Given the description of an element on the screen output the (x, y) to click on. 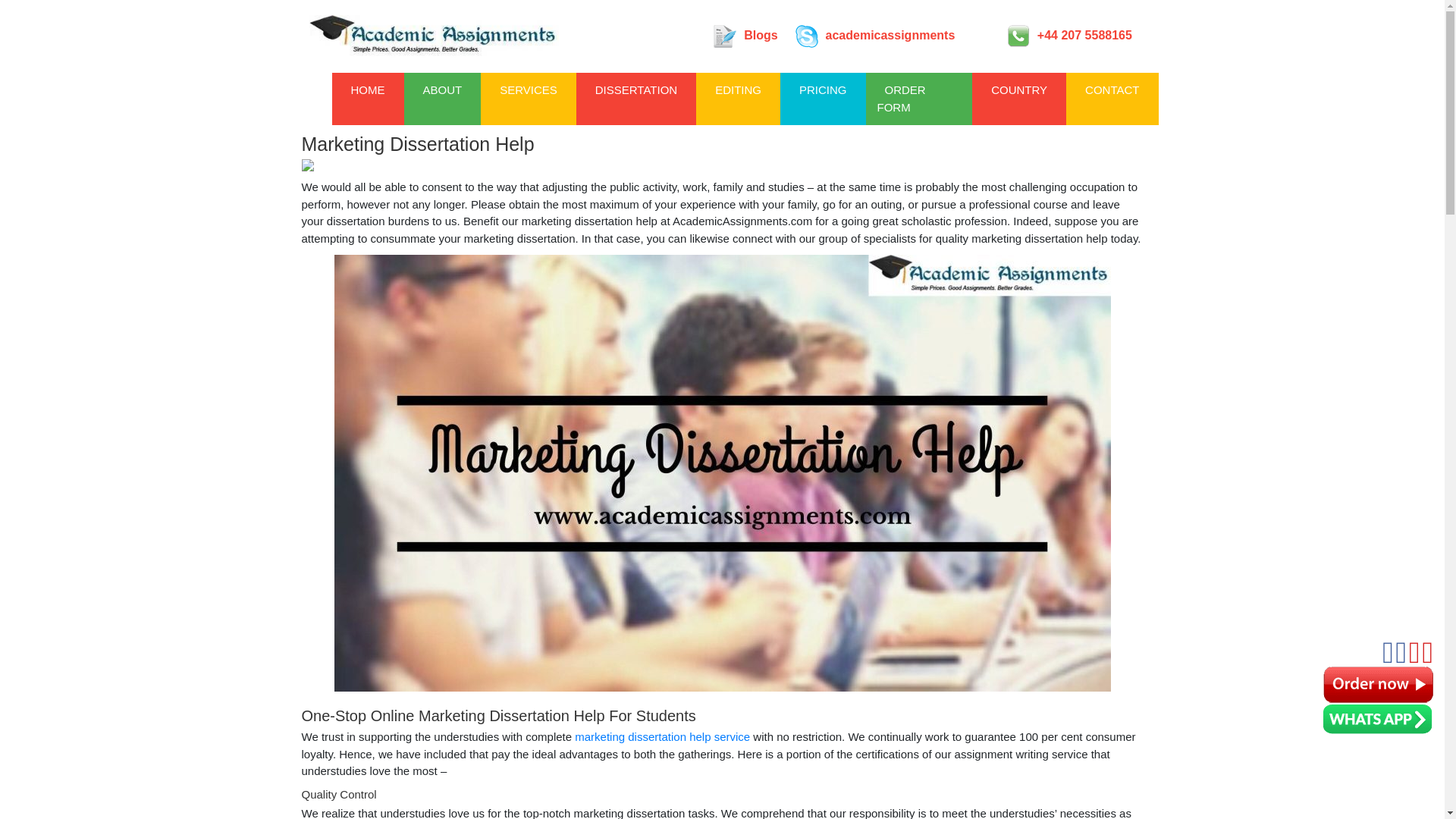
Blogs (745, 36)
